Given the description of an element on the screen output the (x, y) to click on. 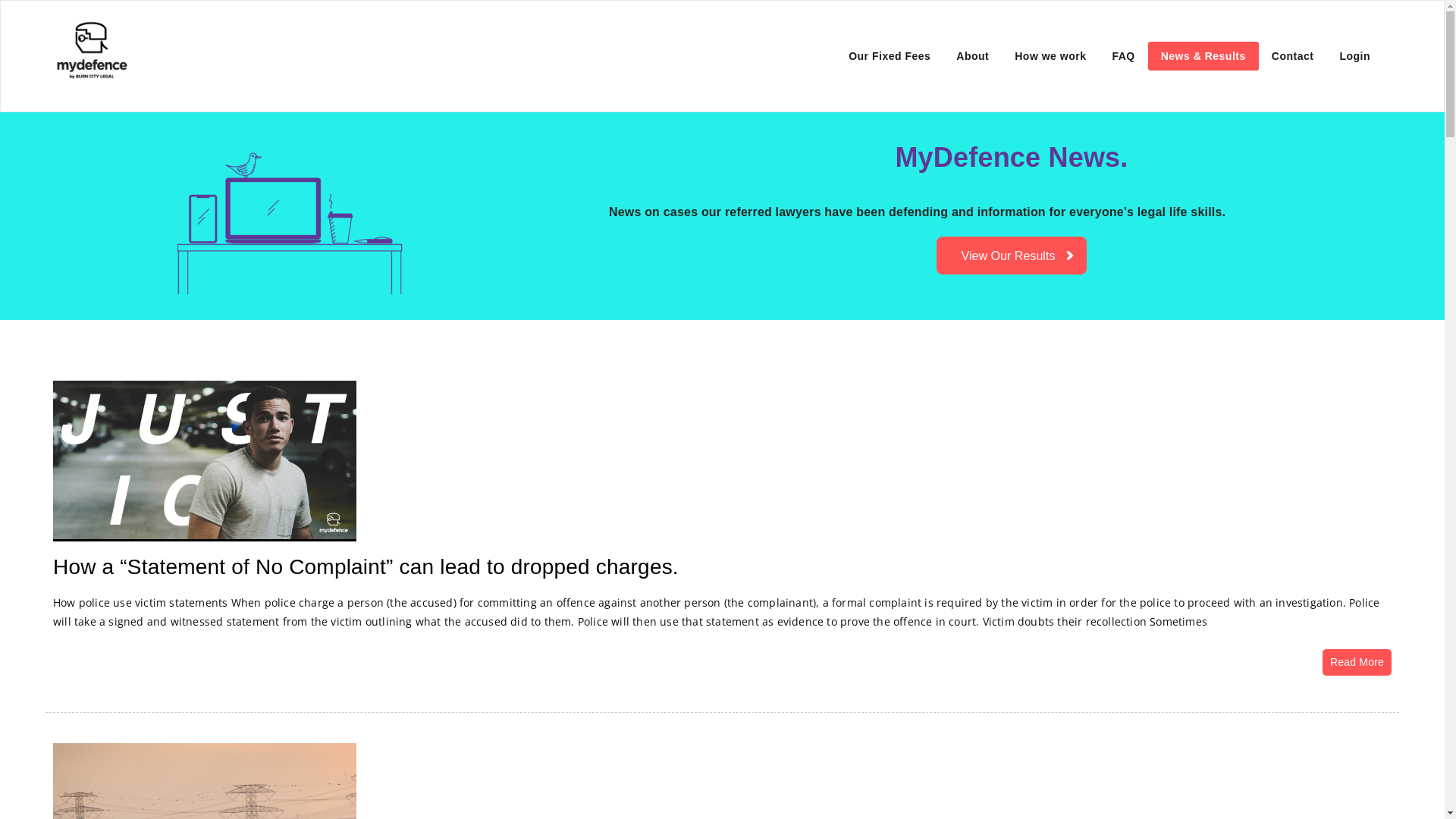
How we work Element type: text (1049, 55)
Contact Element type: text (1292, 55)
Read More Element type: text (1356, 662)
Our Fixed Fees Element type: text (889, 55)
Login Element type: text (1354, 55)
FAQ Element type: text (1122, 55)
MyDefence Element type: text (212, 38)
About Element type: text (972, 55)
View Our Results Element type: text (1010, 255)
News & Results Element type: text (1203, 55)
